Given the description of an element on the screen output the (x, y) to click on. 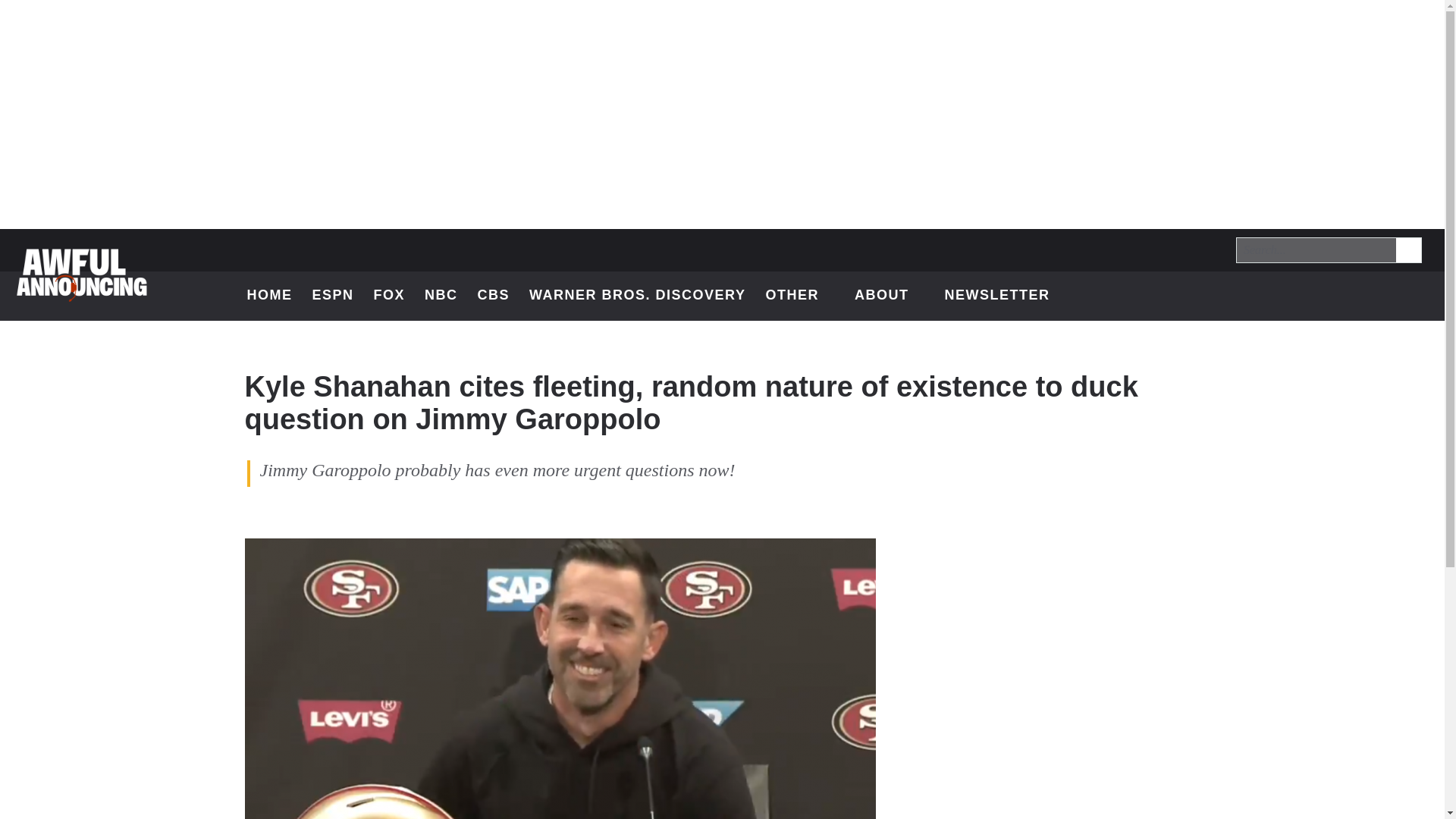
HOME (269, 296)
Link to Facebook (1336, 296)
SEARCH (1407, 249)
CBS (493, 296)
Link to Twitter (1296, 296)
FOX (390, 296)
ESPN (332, 296)
NEWSLETTER (996, 296)
NBC (441, 296)
WARNER BROS. DISCOVERY (636, 296)
